Given the description of an element on the screen output the (x, y) to click on. 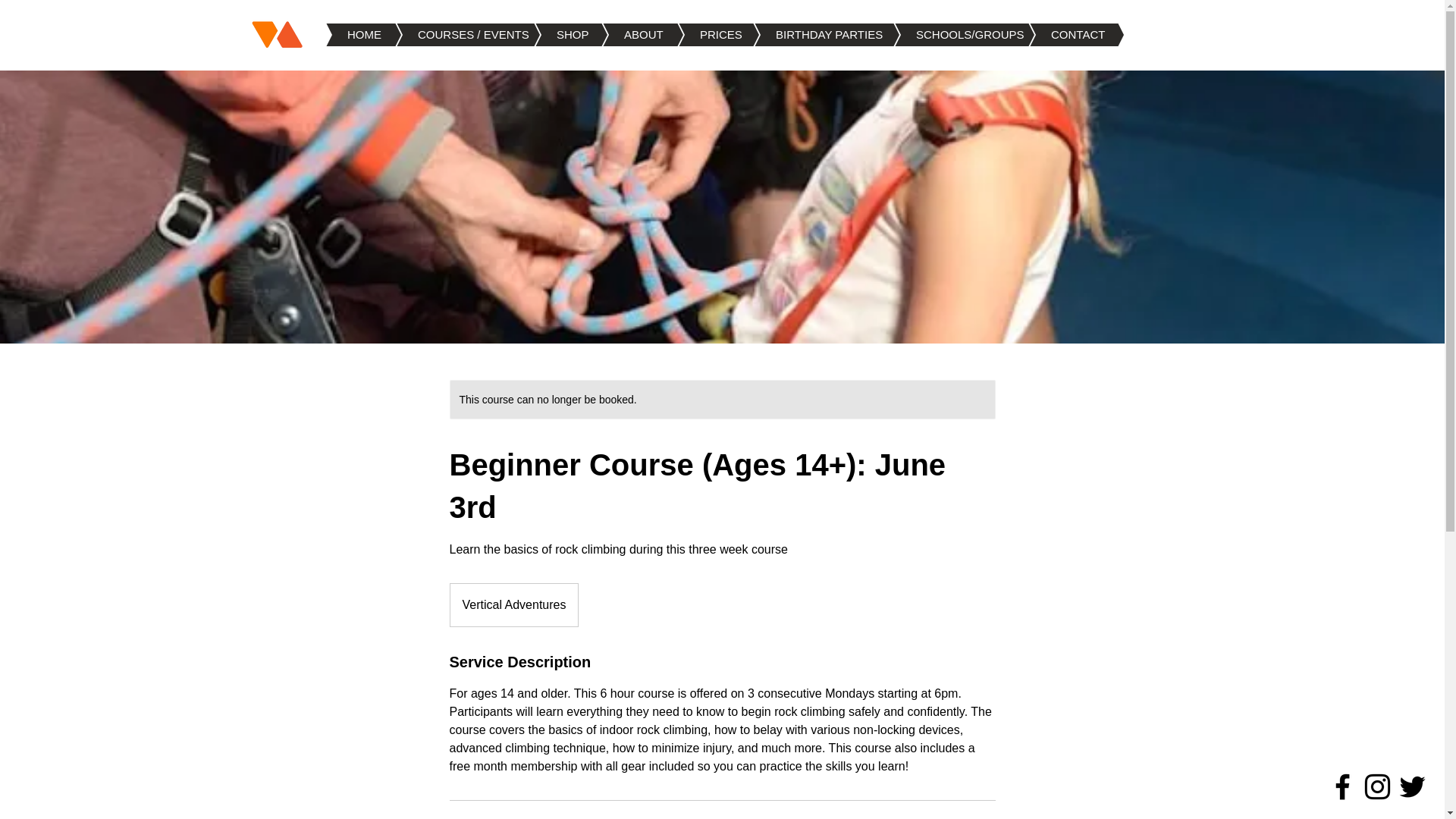
PRICES (694, 34)
ABOUT (619, 34)
SHOP (547, 34)
BIRTHDAY PARTIES (803, 34)
HOME (340, 34)
CONTACT (1053, 34)
